Given the description of an element on the screen output the (x, y) to click on. 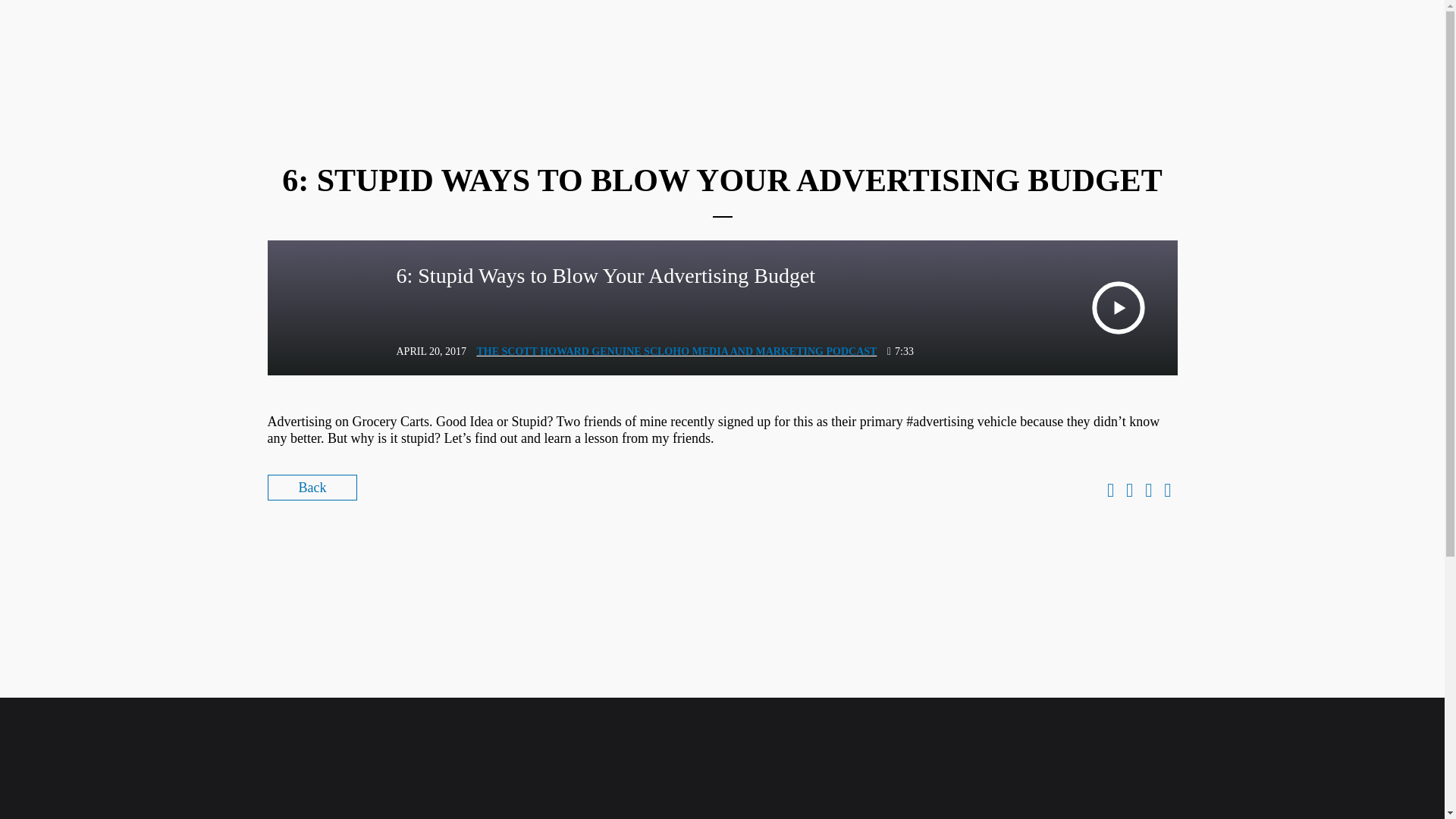
Share on Facebook (1109, 491)
Share on LinkedIn (1147, 491)
Share on Twitter (1128, 491)
Share on Pinterest (1166, 491)
